Given the description of an element on the screen output the (x, y) to click on. 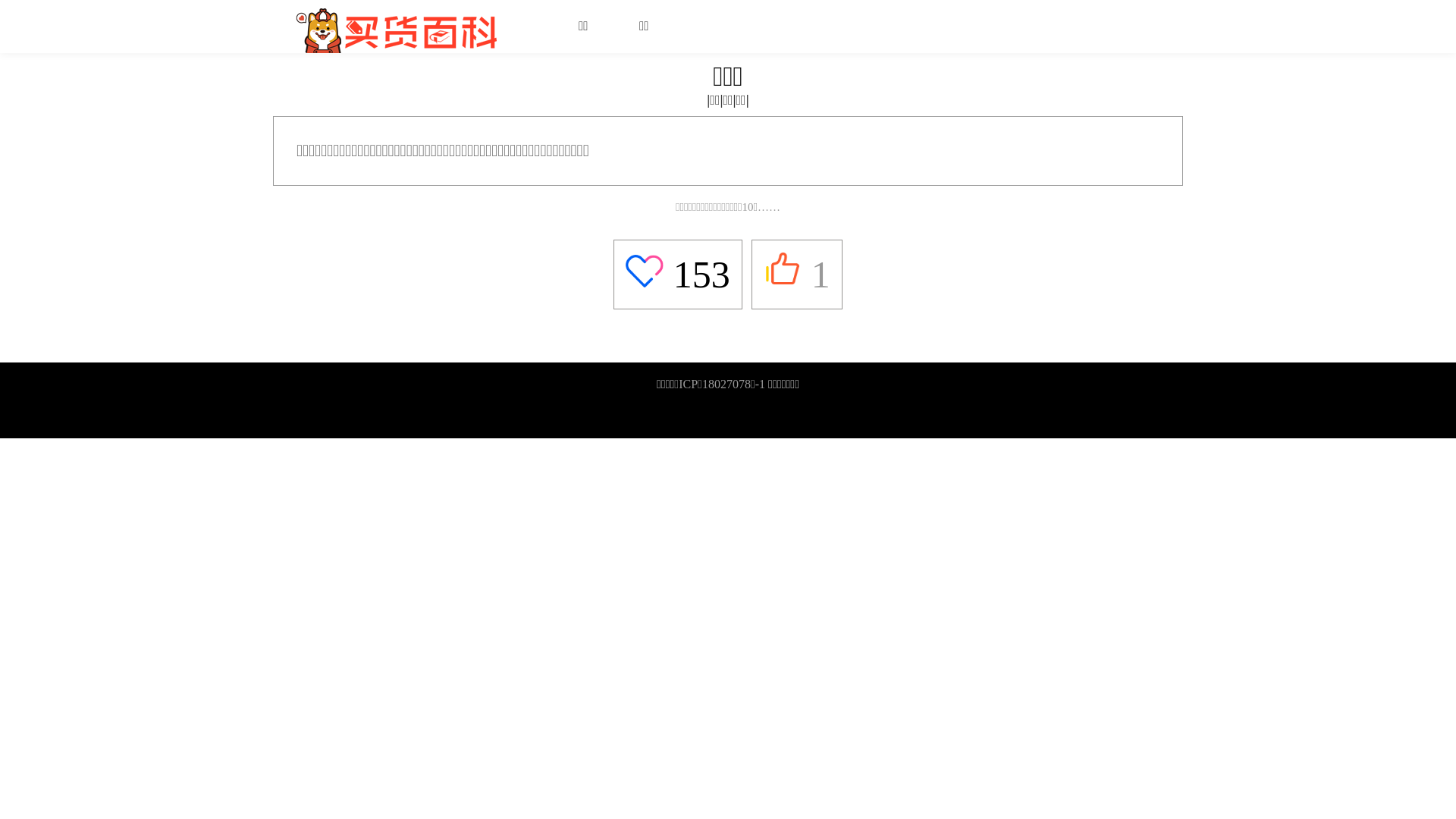
1 Element type: text (796, 274)
